Given the description of an element on the screen output the (x, y) to click on. 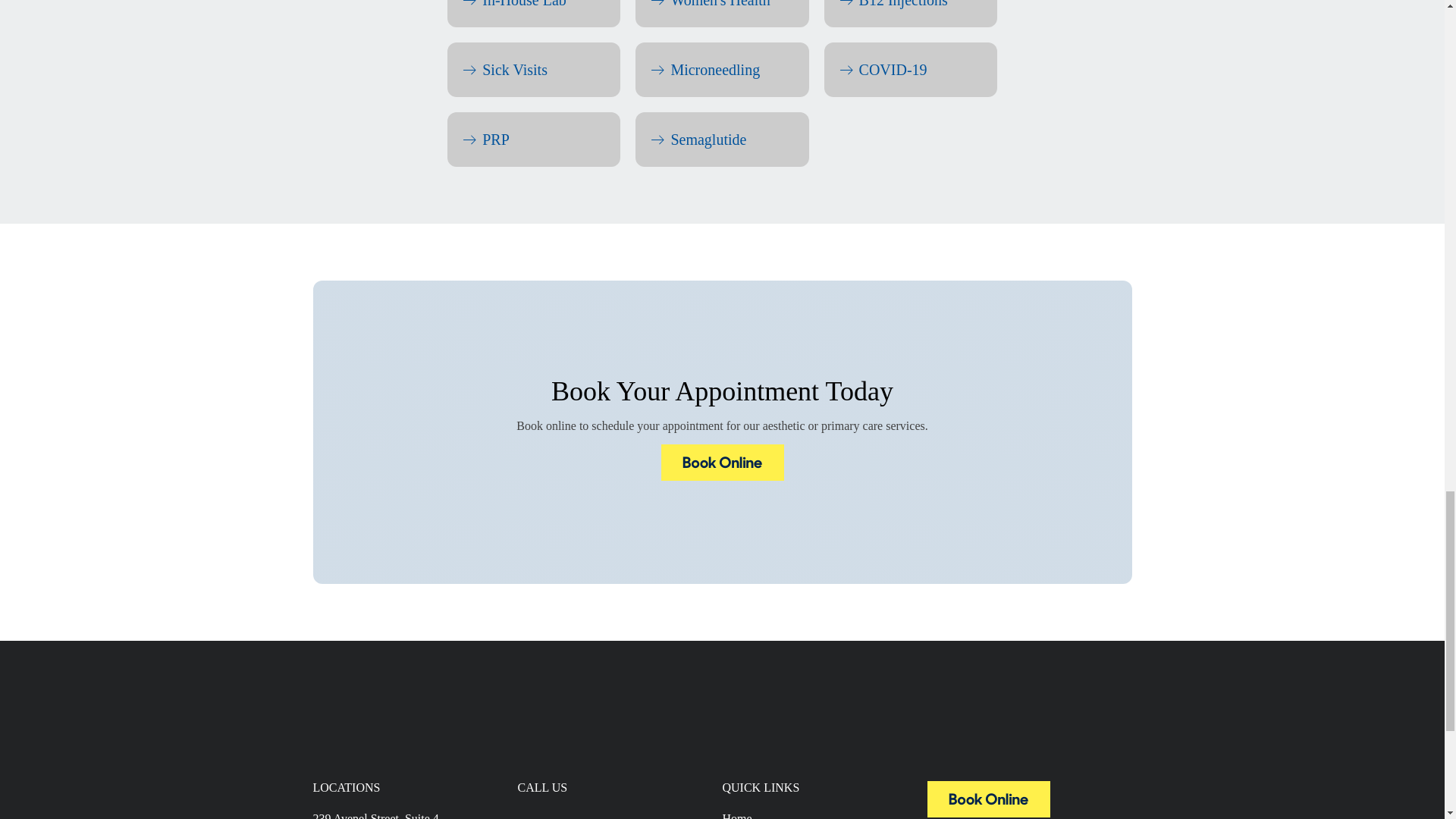
Avenel Primary Care (722, 476)
Avenel Primary Care (722, 462)
Avenel Primary Care (987, 799)
Avenel Primary Care (987, 812)
